Given the description of an element on the screen output the (x, y) to click on. 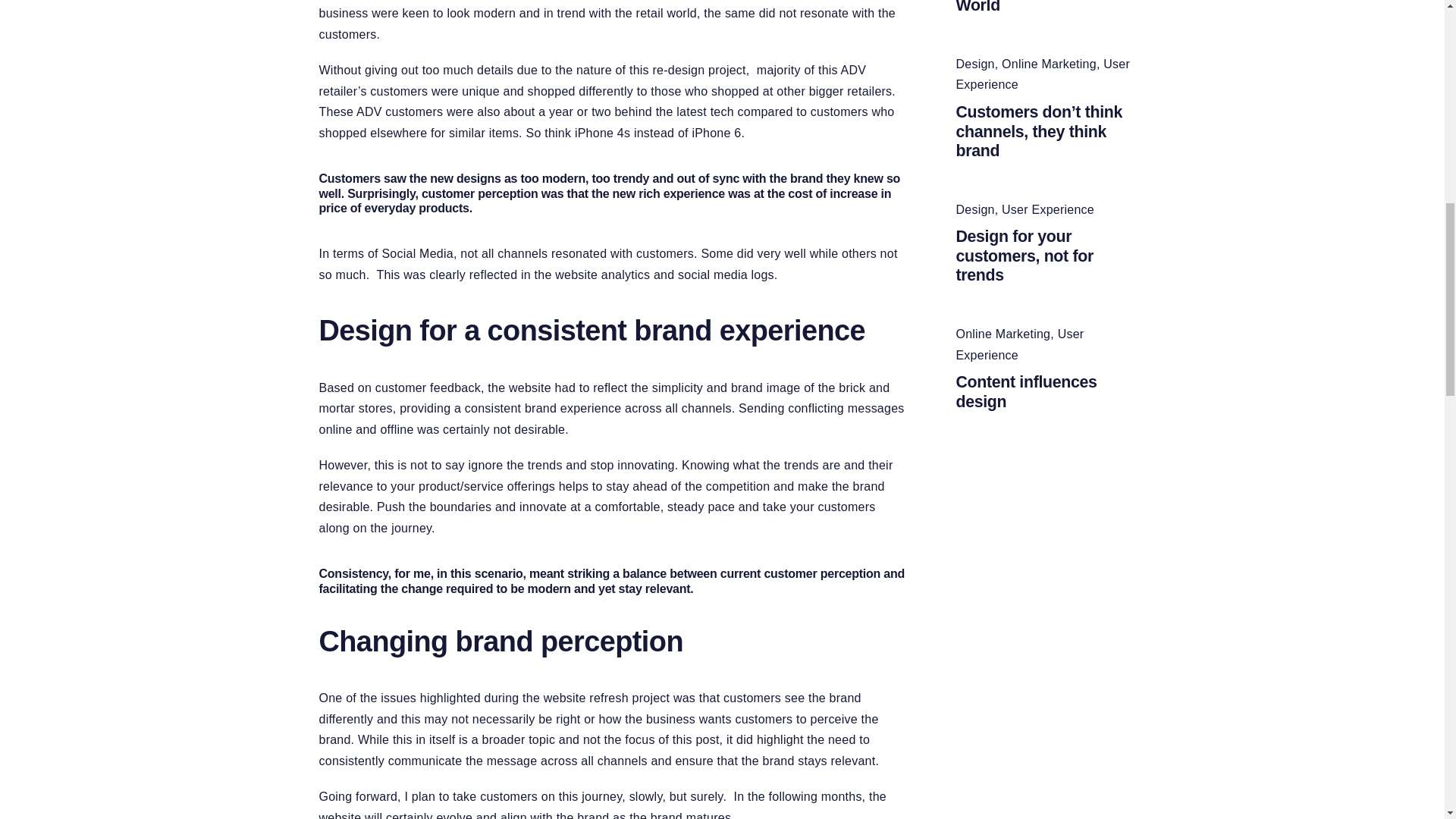
User Experience (1042, 74)
User Experience (1042, 74)
Online Marketing (1048, 63)
Design for your customers, not for trends (1024, 255)
User Experience (1019, 344)
Design (974, 63)
User Experience (1047, 209)
Design (974, 209)
Content influences design (1025, 392)
Online Marketing (1002, 333)
